Given the description of an element on the screen output the (x, y) to click on. 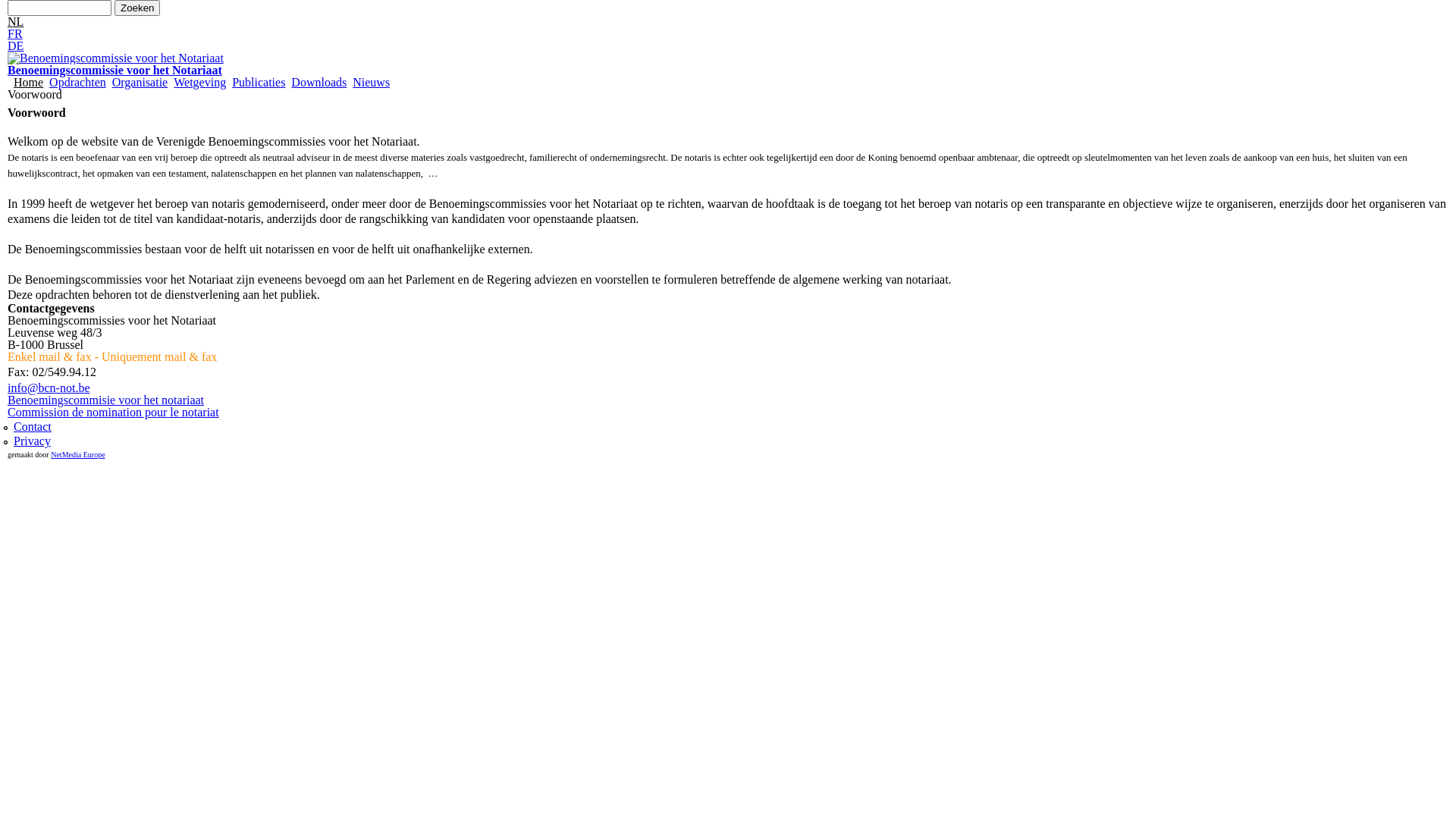
Opdrachten Element type: text (77, 82)
Contact Element type: text (32, 426)
Overslaan en naar de inhoud gaan Element type: text (696, 1)
Zoeken Element type: text (137, 7)
Benoemingscommissie voor het Notariaat Element type: text (114, 69)
FR Element type: text (14, 33)
Benoemingscommissie voor het Notariaat Element type: hover (115, 57)
DE Element type: text (15, 45)
Commission de nomination pour le notariat Element type: text (113, 411)
info@bcn-not.be Element type: text (48, 387)
Wetgeving Element type: text (199, 82)
Geef de woorden op waarnaar u wilt zoeken. Element type: hover (59, 7)
NL Element type: text (15, 21)
NetMedia Europe Element type: text (77, 454)
Publicaties Element type: text (258, 82)
Benoemingscommisie voor het notariaat Element type: text (105, 399)
Organisatie Element type: text (139, 82)
Nieuws Element type: text (370, 82)
Downloads Element type: text (318, 82)
Home Element type: text (28, 82)
Privacy Element type: text (31, 440)
